Given the description of an element on the screen output the (x, y) to click on. 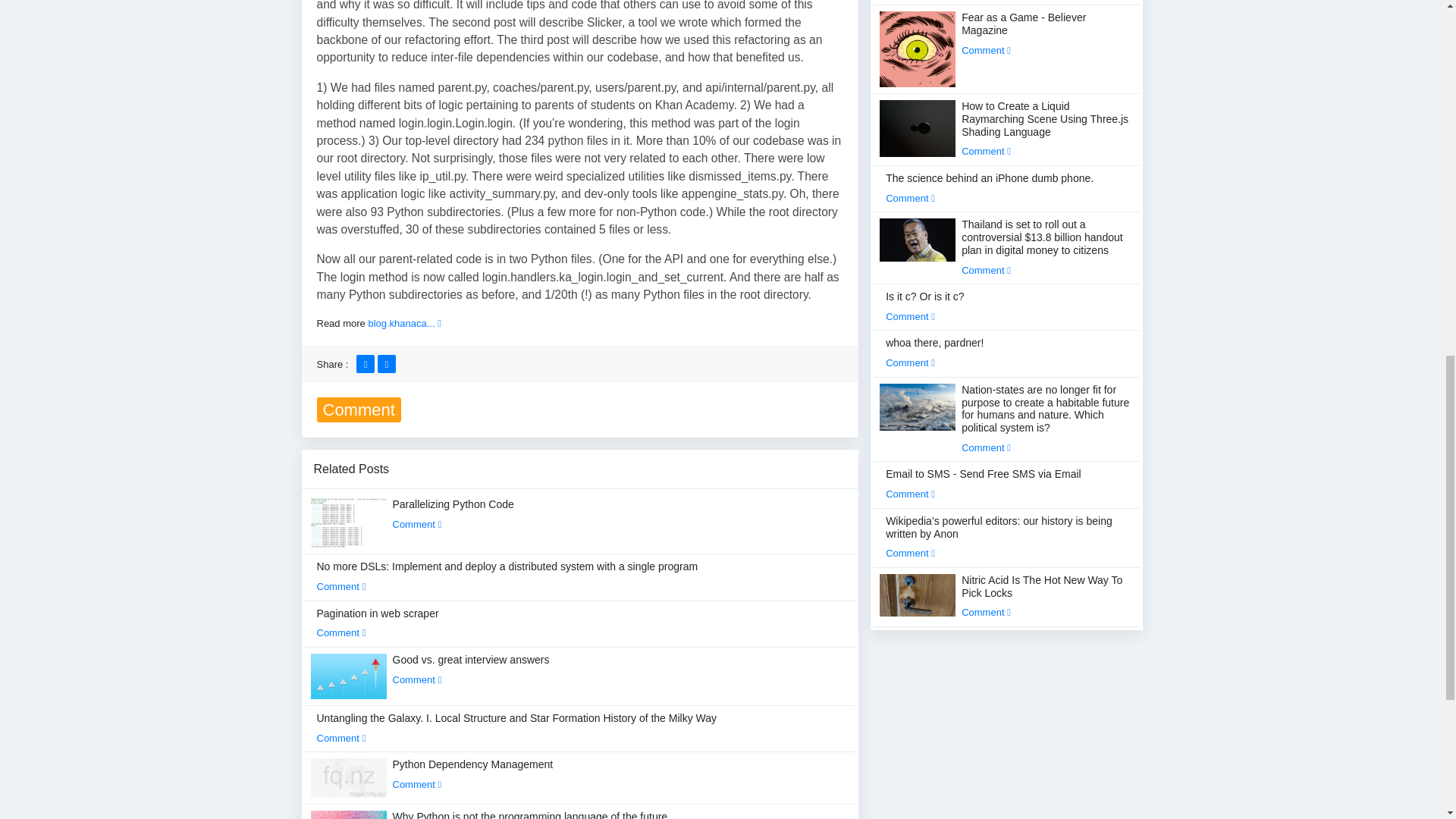
Why Python is not the programming language of the future (530, 814)
blog.khanaca... (404, 323)
Comment (341, 632)
Pagination in web scraper (378, 623)
Comment (417, 679)
Comment (341, 737)
Comment (341, 586)
Good vs. great interview answers (471, 669)
Comment (417, 784)
Parallelizing Python Code (453, 513)
Python Dependency Management (473, 774)
Comment (417, 523)
